Given the description of an element on the screen output the (x, y) to click on. 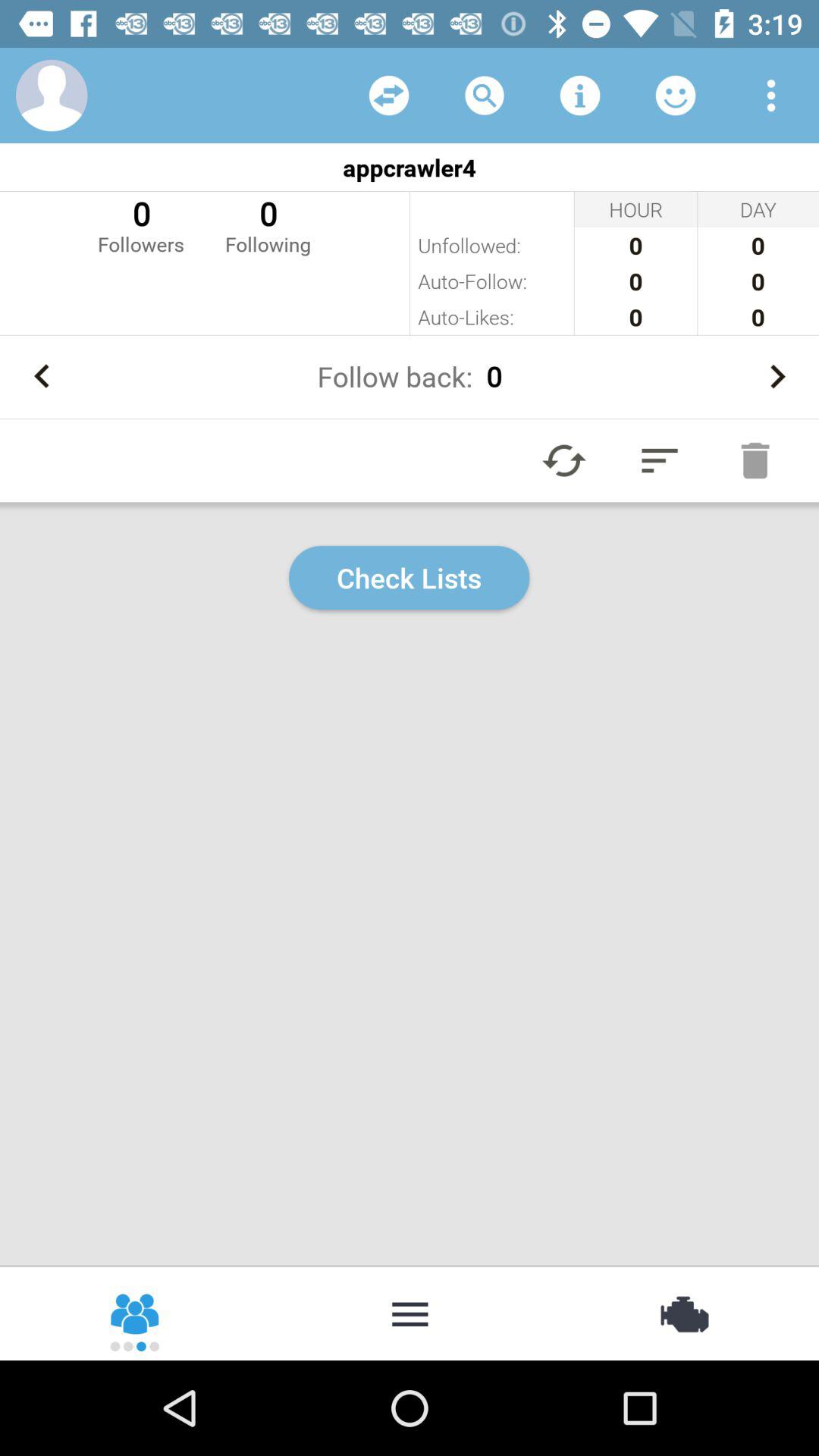
advance to next page (777, 376)
